Given the description of an element on the screen output the (x, y) to click on. 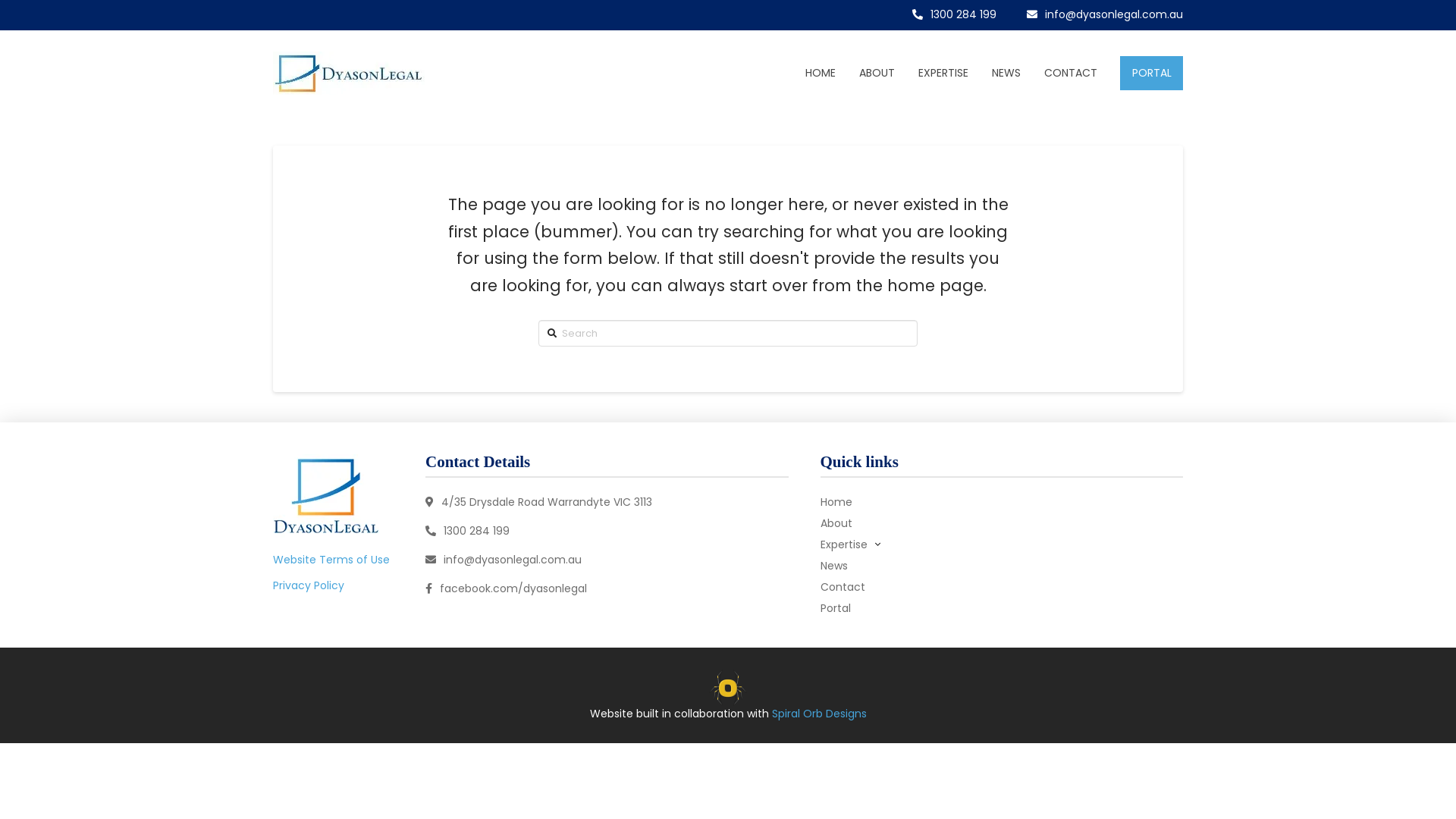
PORTAL Element type: text (1151, 73)
Portal Element type: text (1001, 607)
1300 284 199 Element type: text (954, 15)
1300 284 199 Element type: text (606, 531)
CONTACT Element type: text (1070, 73)
Spiral Orb Designs Element type: text (818, 713)
Home Element type: text (1001, 501)
Expertise Element type: text (1001, 544)
EXPERTISE Element type: text (942, 73)
Privacy Policy Element type: text (310, 585)
NEWS Element type: text (1005, 73)
ABOUT Element type: text (876, 73)
info@dyasonlegal.com.au Element type: text (606, 560)
About Element type: text (1001, 522)
HOME Element type: text (820, 73)
info@dyasonlegal.com.au Element type: text (1104, 15)
facebook.com/dyasonlegal Element type: text (606, 589)
Contact Element type: text (1001, 586)
Website Terms of Use Element type: text (333, 559)
News Element type: text (1001, 565)
